Given the description of an element on the screen output the (x, y) to click on. 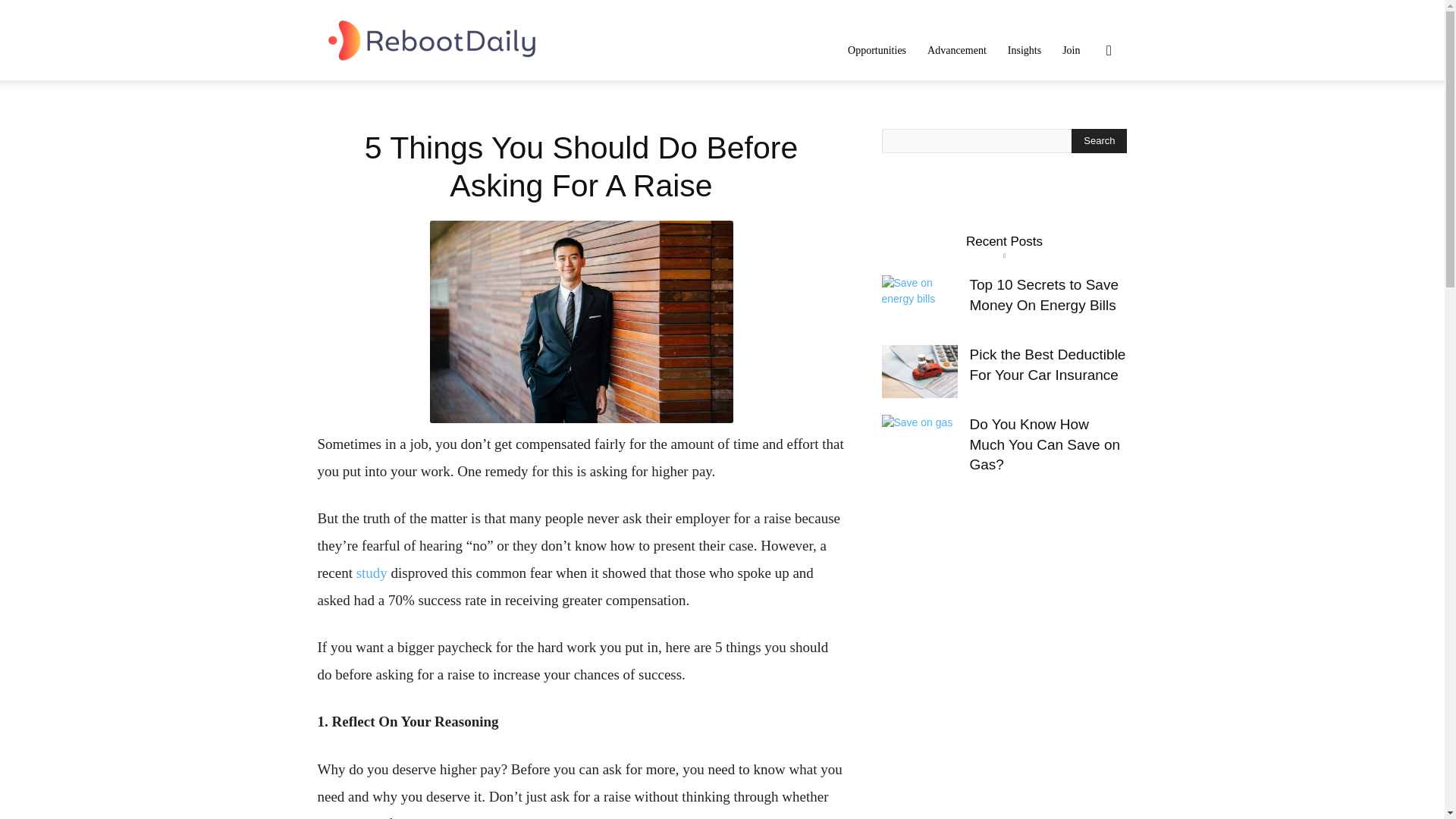
pexels-mentatdgt-937481 (580, 321)
study (371, 572)
Search (1084, 122)
Search (1098, 140)
Opportunities (877, 50)
Insights (1024, 50)
Reboot Daily (430, 39)
Advancement (957, 50)
